Given the description of an element on the screen output the (x, y) to click on. 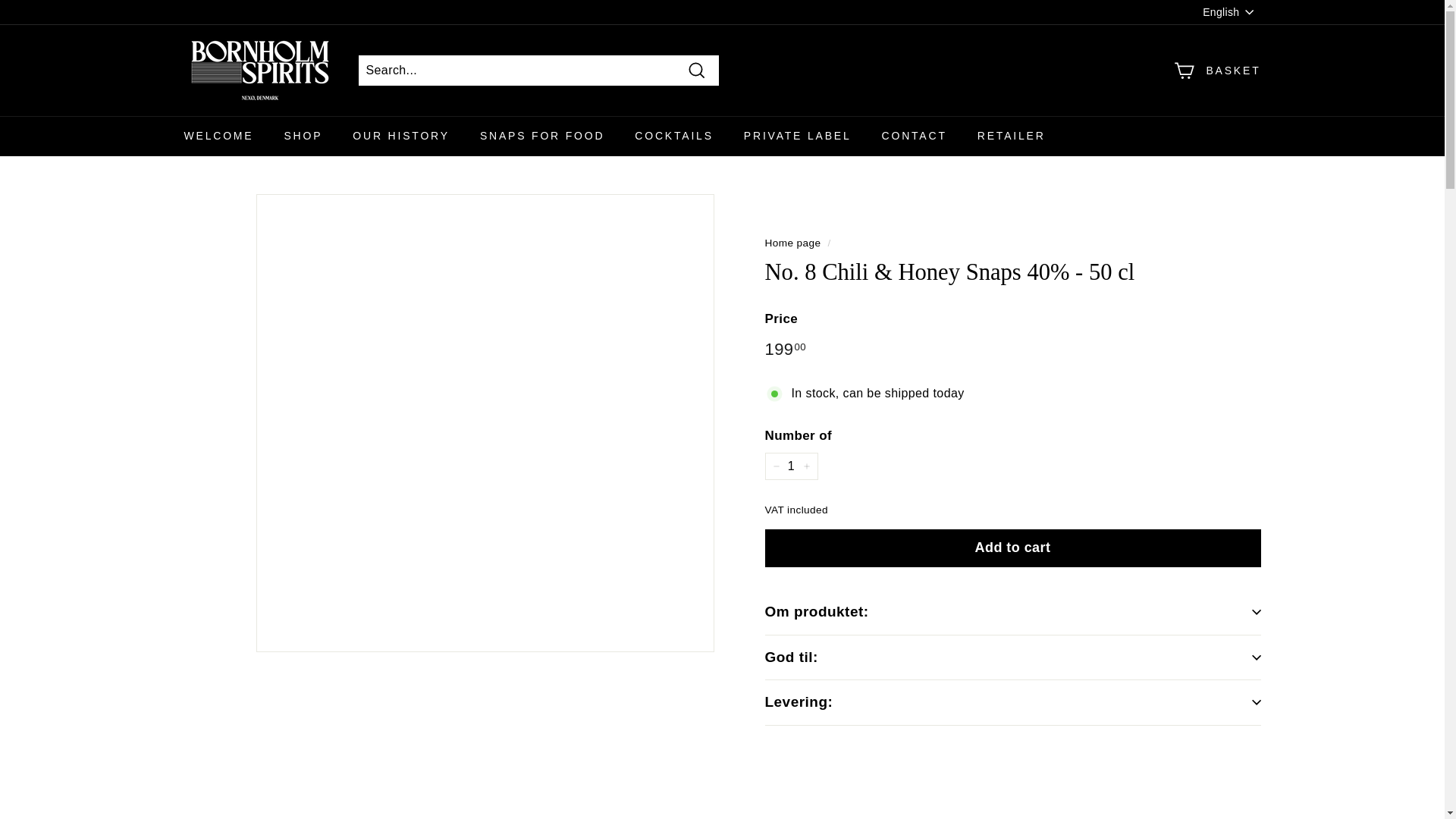
SHOP (302, 136)
WELCOME (217, 136)
SNAPS FOR FOOD (542, 136)
Back to the front page (792, 242)
English (1231, 12)
1 (790, 465)
OUR HISTORY (400, 136)
